Given the description of an element on the screen output the (x, y) to click on. 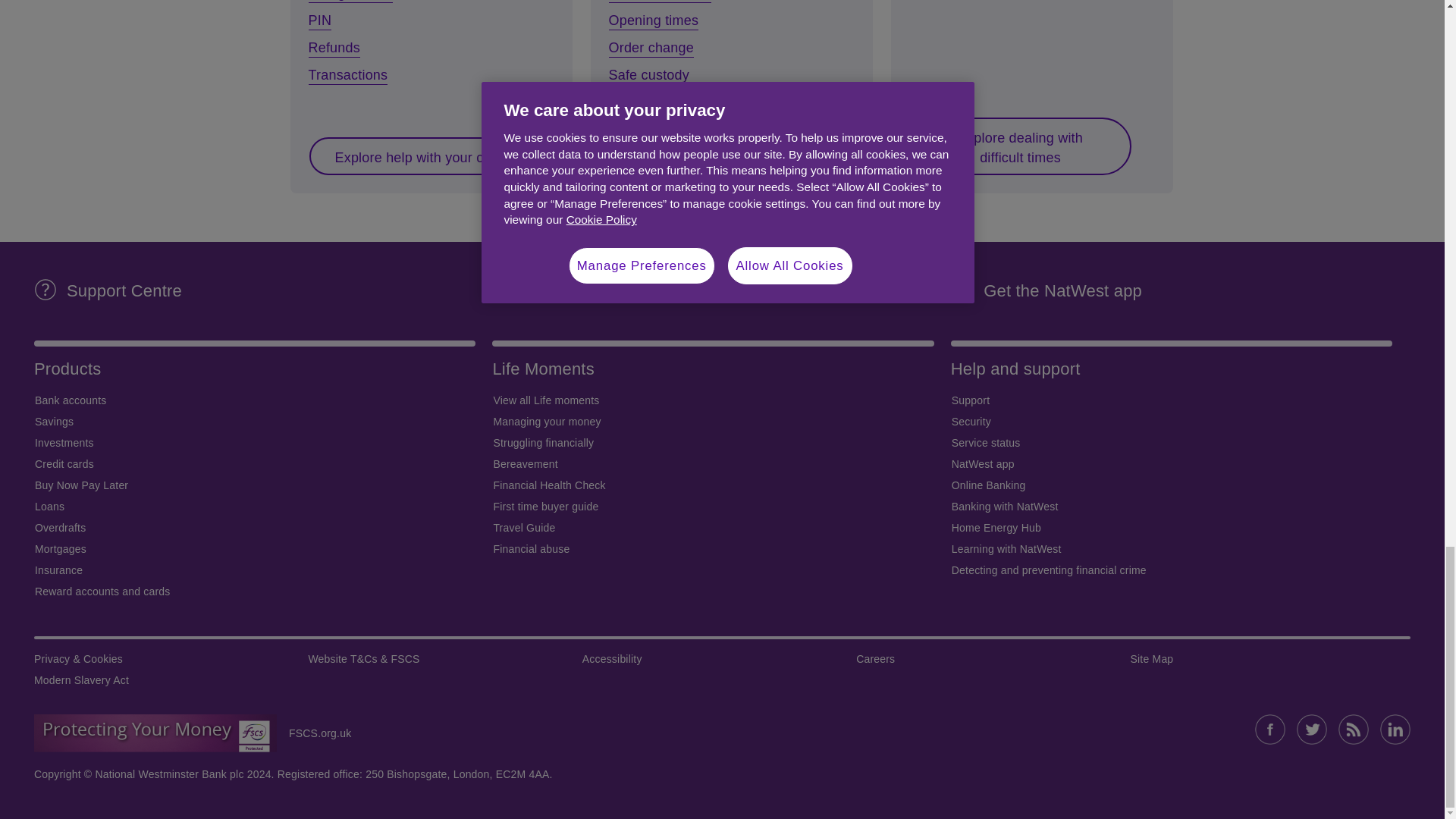
Explore dealing with difficult times (1019, 146)
Explore banking near me (712, 155)
fscs (154, 733)
fscs (313, 733)
Explore help with your card (418, 155)
